Given the description of an element on the screen output the (x, y) to click on. 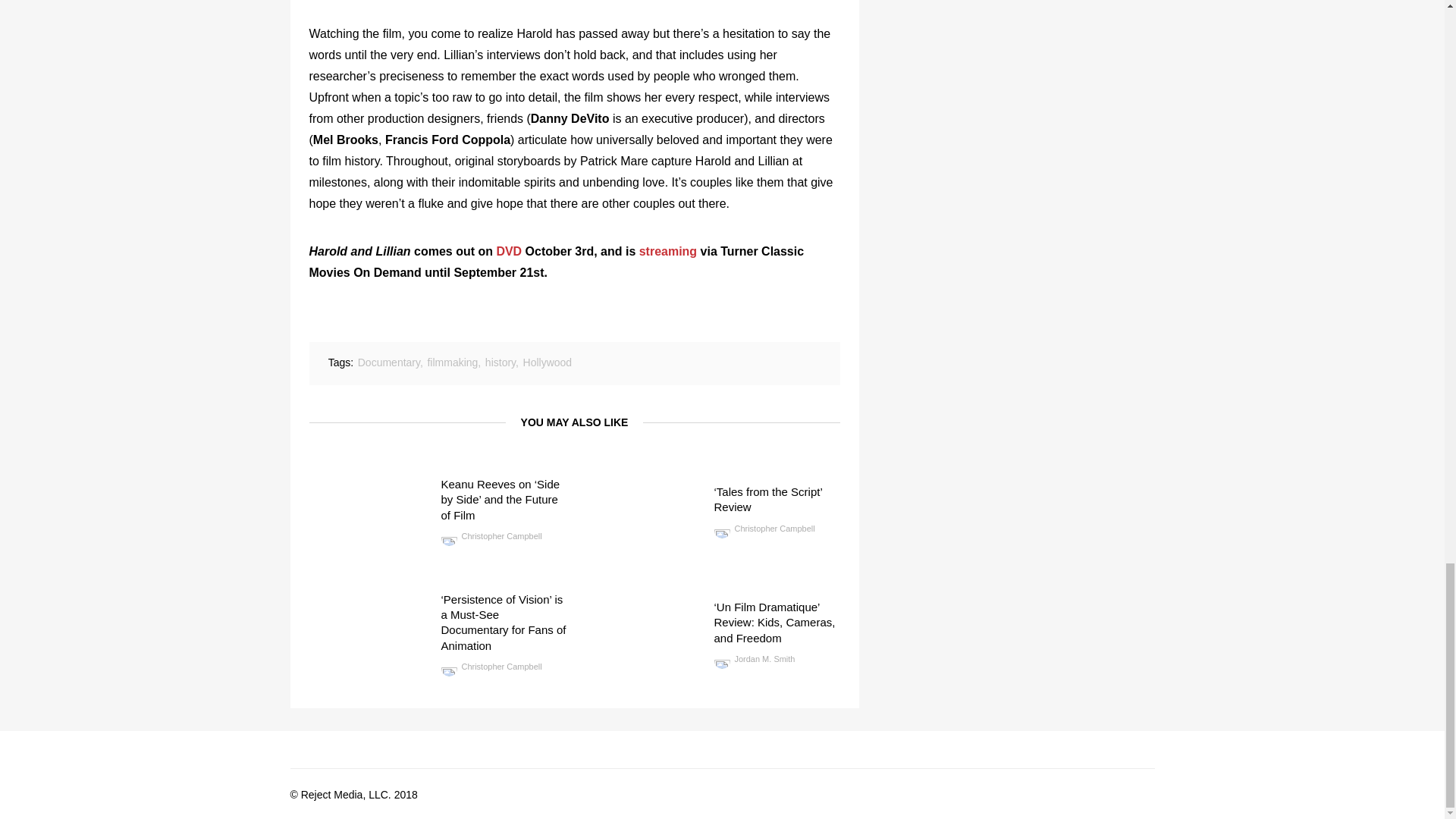
history (499, 362)
Hollywood (547, 362)
Documentary (389, 362)
streaming (668, 250)
Christopher Campbell (491, 665)
DVD (508, 250)
Christopher Campbell (764, 528)
filmmaking (451, 362)
Christopher Campbell (491, 535)
